Given the description of an element on the screen output the (x, y) to click on. 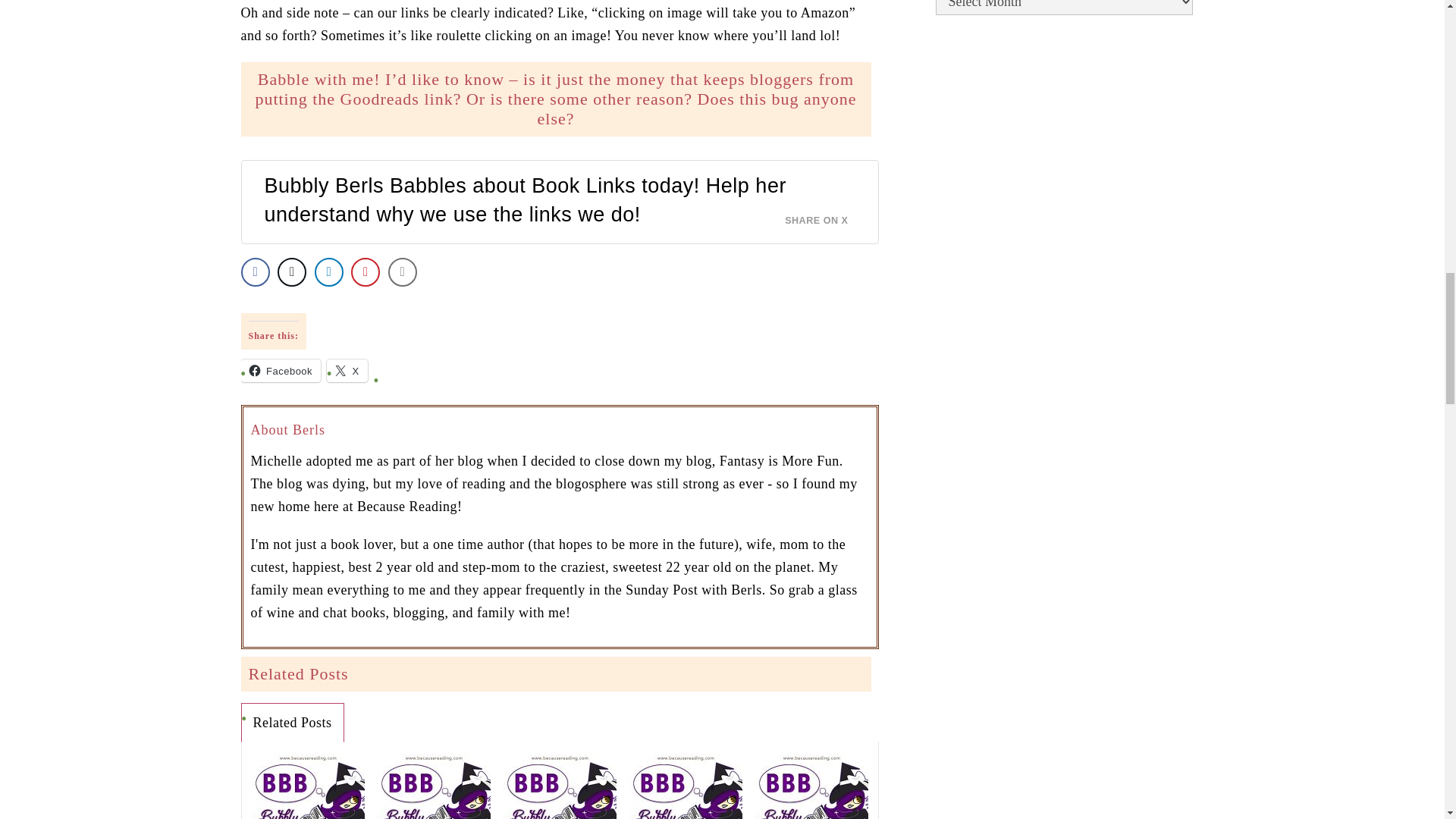
Click to share on X (347, 370)
X (347, 370)
Click to share on Facebook (281, 370)
Related Posts (291, 722)
SHARE ON X (825, 215)
Facebook (281, 370)
